Given the description of an element on the screen output the (x, y) to click on. 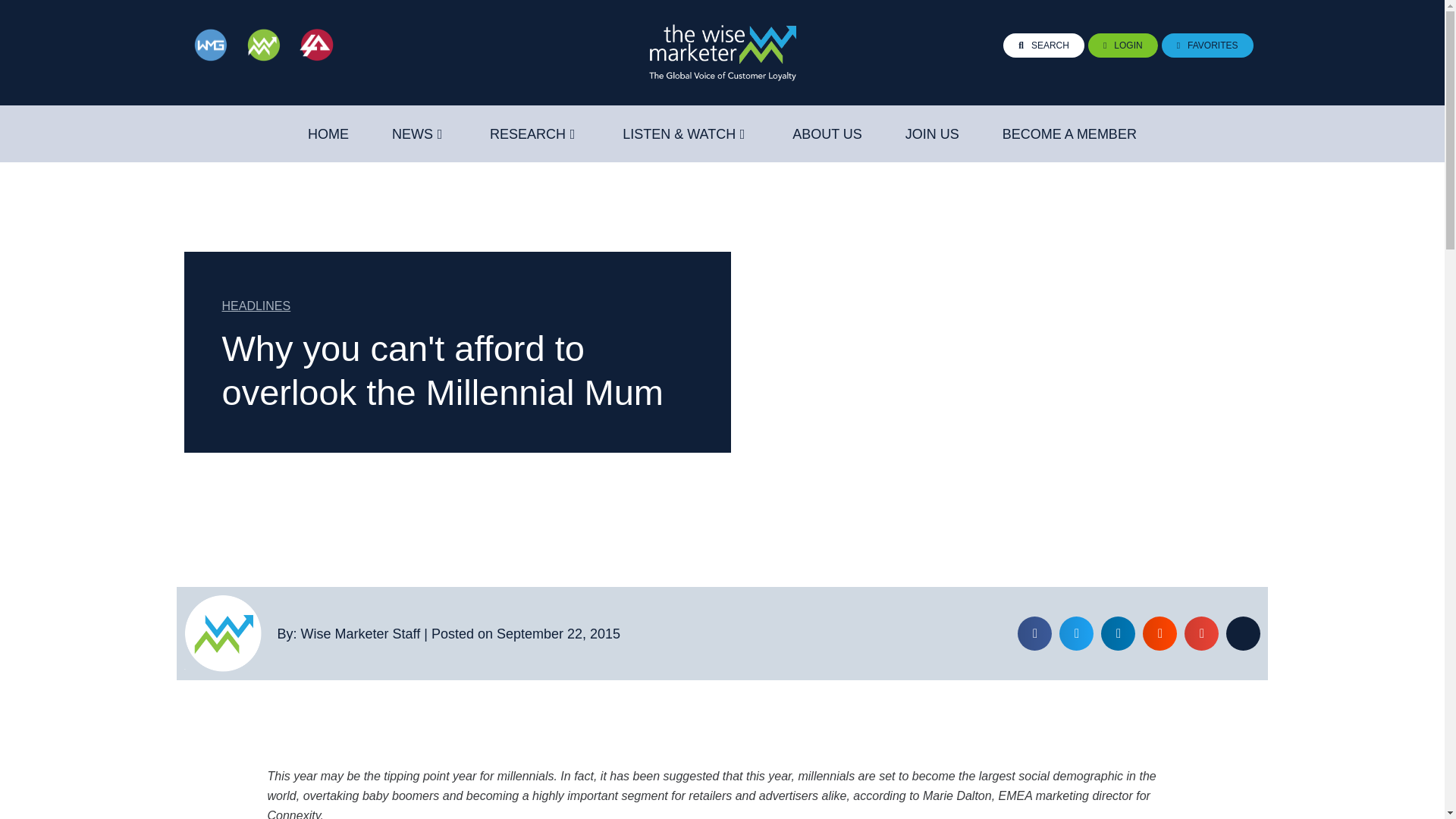
SEARCH (1043, 45)
BECOME A MEMBER (1070, 134)
JOIN US (932, 134)
NEWS (411, 134)
FAVORITES (1207, 45)
ABOUT US (826, 134)
HOME (328, 134)
WM Circle Logo (222, 633)
LOGIN (1122, 45)
RESEARCH (527, 134)
